Given the description of an element on the screen output the (x, y) to click on. 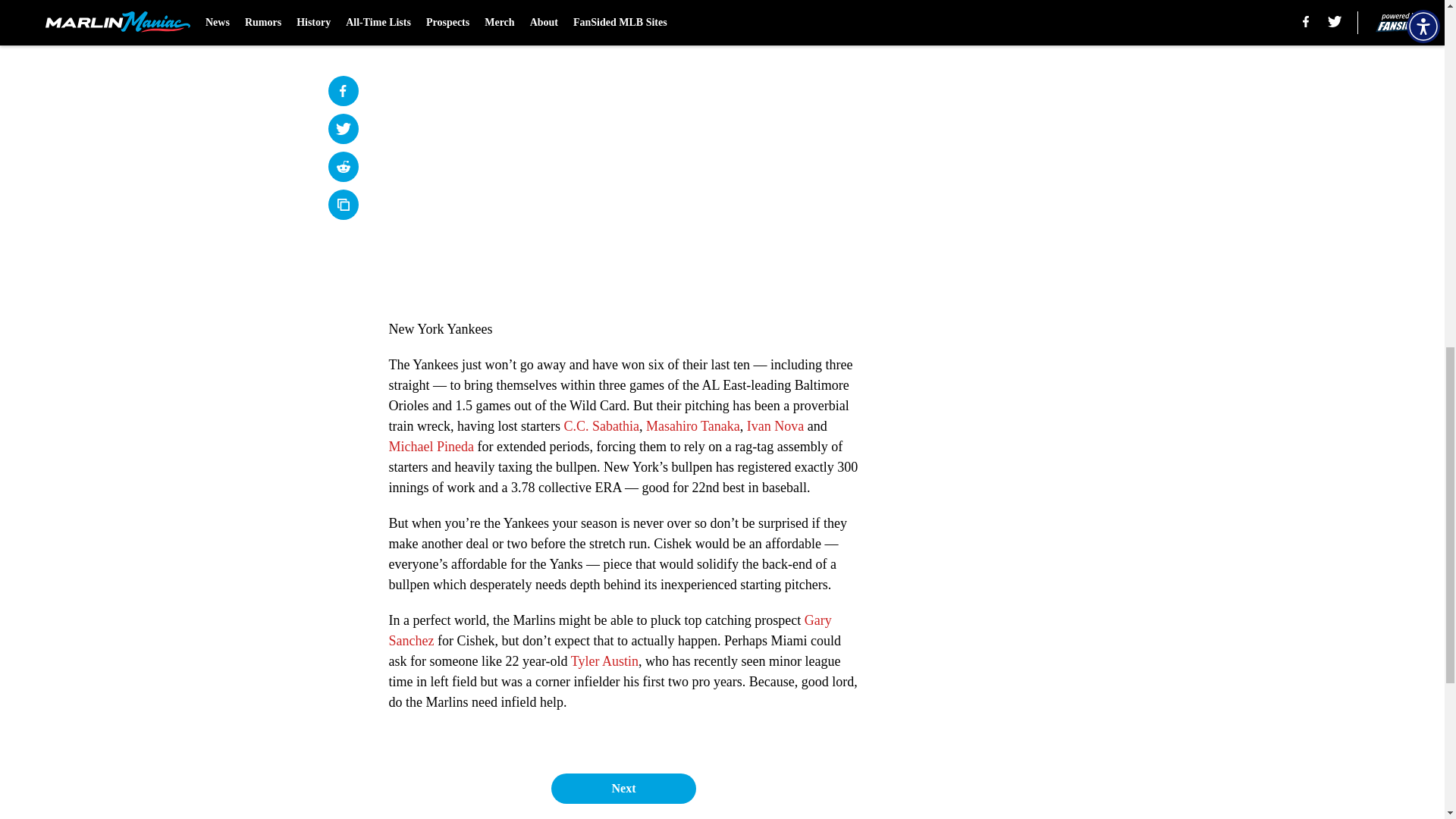
Next (813, 12)
Michael Pineda (430, 446)
C.C. Sabathia (601, 426)
Masahiro Tanaka (692, 426)
Next (622, 788)
Prev (433, 12)
Ivan Nova (774, 426)
Tyler Austin (604, 661)
Gary Sanchez (609, 630)
